Given the description of an element on the screen output the (x, y) to click on. 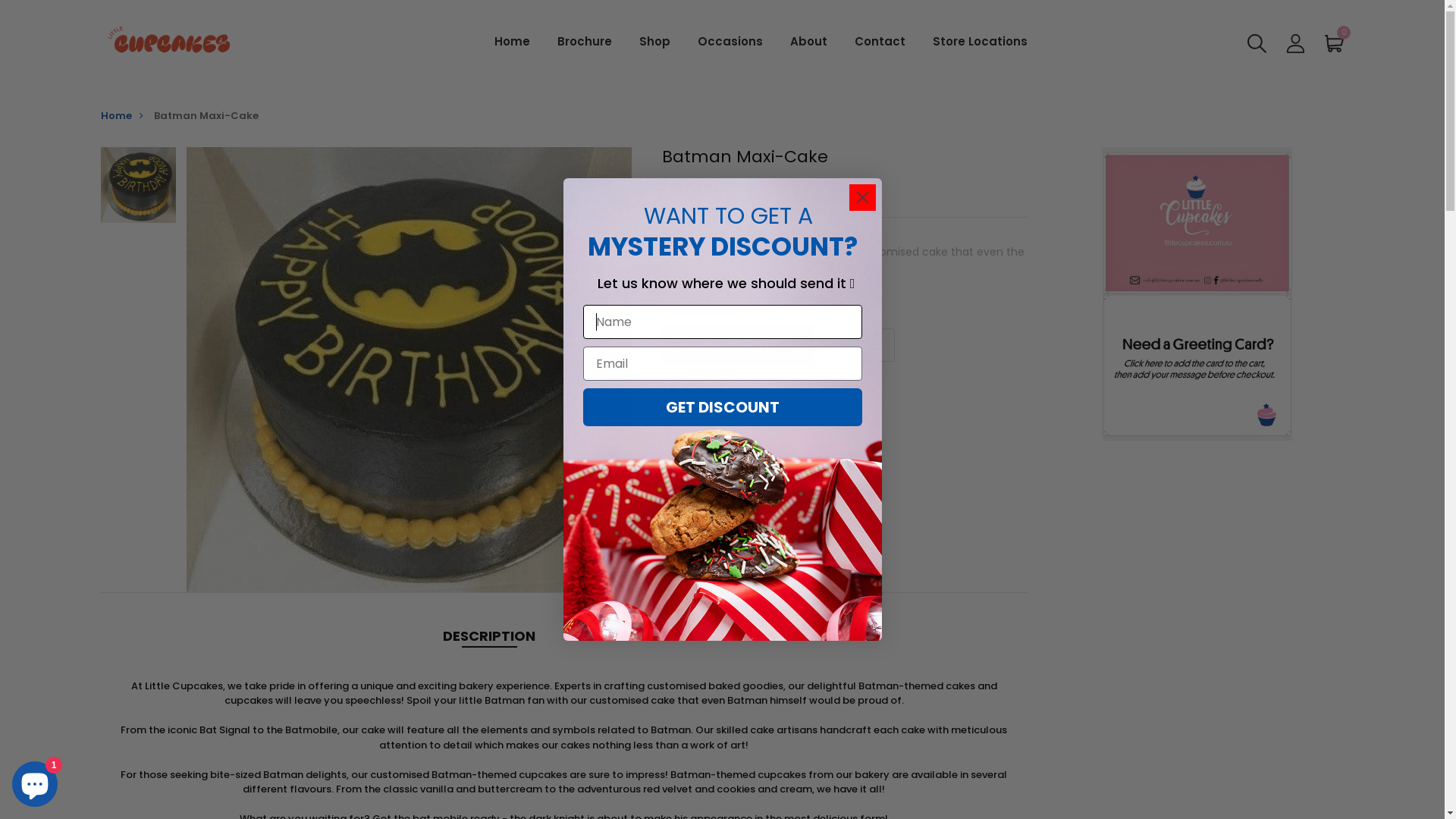
Log In Element type: text (722, 527)
Qty Element type: hover (856, 344)
Occasions Element type: text (729, 41)
All, Element type: text (745, 386)
Simple Cake Element type: text (819, 386)
ADD TO CART Element type: text (737, 344)
DESCRIPTION Element type: text (488, 635)
Store Locations Element type: text (979, 41)
Brochure Element type: text (584, 41)
Home Element type: text (512, 41)
Home Element type: text (125, 115)
GET DISCOUNT Element type: text (721, 407)
Submit Element type: text (29, 16)
Shop Element type: text (654, 41)
Contact Element type: text (879, 41)
register Element type: text (722, 789)
0 Element type: text (1333, 43)
Cake, Element type: text (769, 386)
ALLERGY INFO Element type: text (636, 635)
About Element type: text (808, 41)
Shopify online store chat Element type: hover (34, 780)
